Given the description of an element on the screen output the (x, y) to click on. 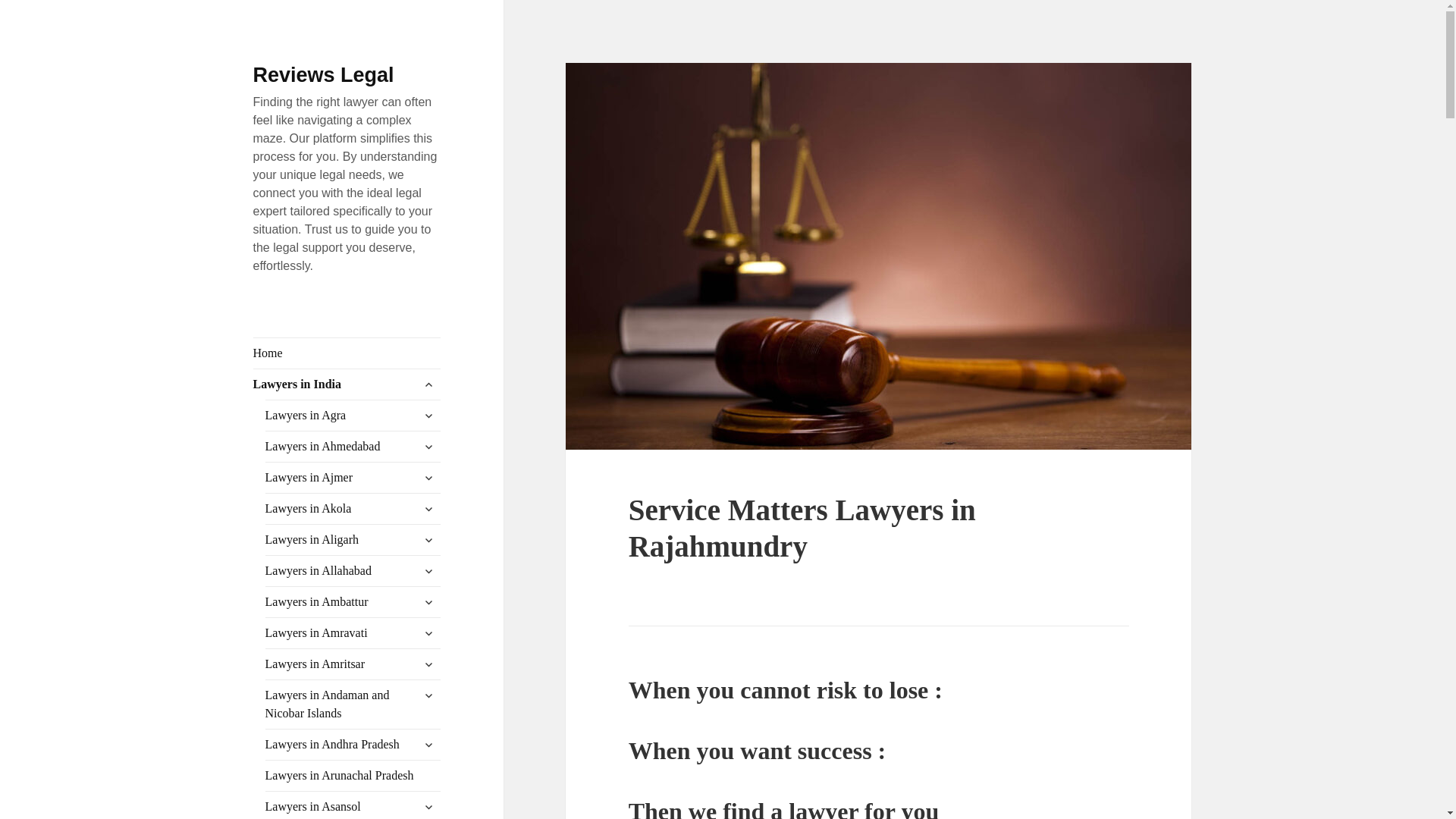
expand child menu (428, 446)
expand child menu (428, 384)
Lawyers in India (347, 384)
Lawyers in Agra (352, 415)
Reviews Legal (323, 74)
Lawyers in Ahmedabad (352, 446)
expand child menu (428, 415)
Home (347, 353)
